Given the description of an element on the screen output the (x, y) to click on. 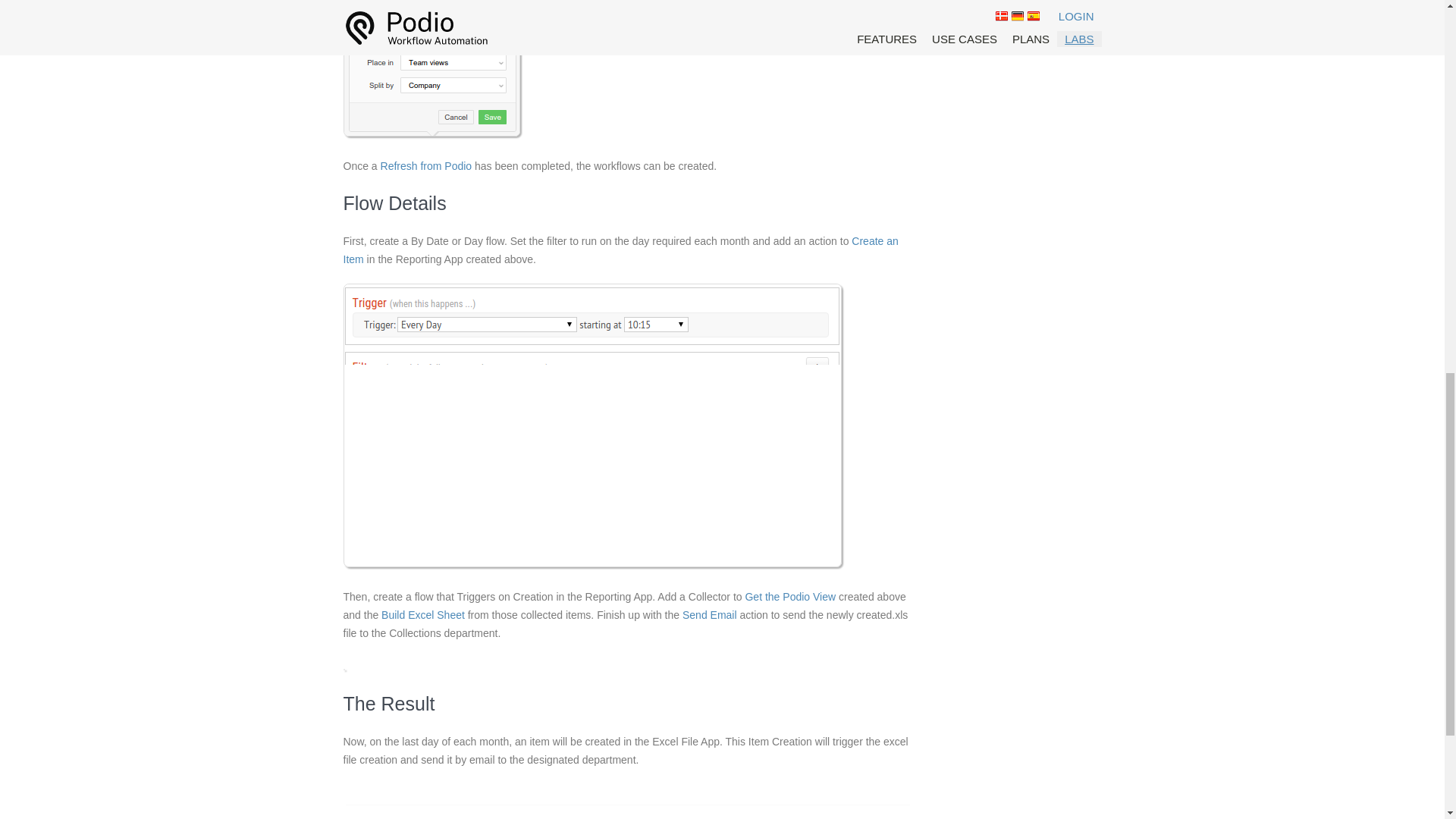
Create an Item (620, 250)
Get the Podio View (789, 596)
Build Excel Sheet (422, 614)
Refresh from Podio (425, 165)
Send Email (709, 614)
